Given the description of an element on the screen output the (x, y) to click on. 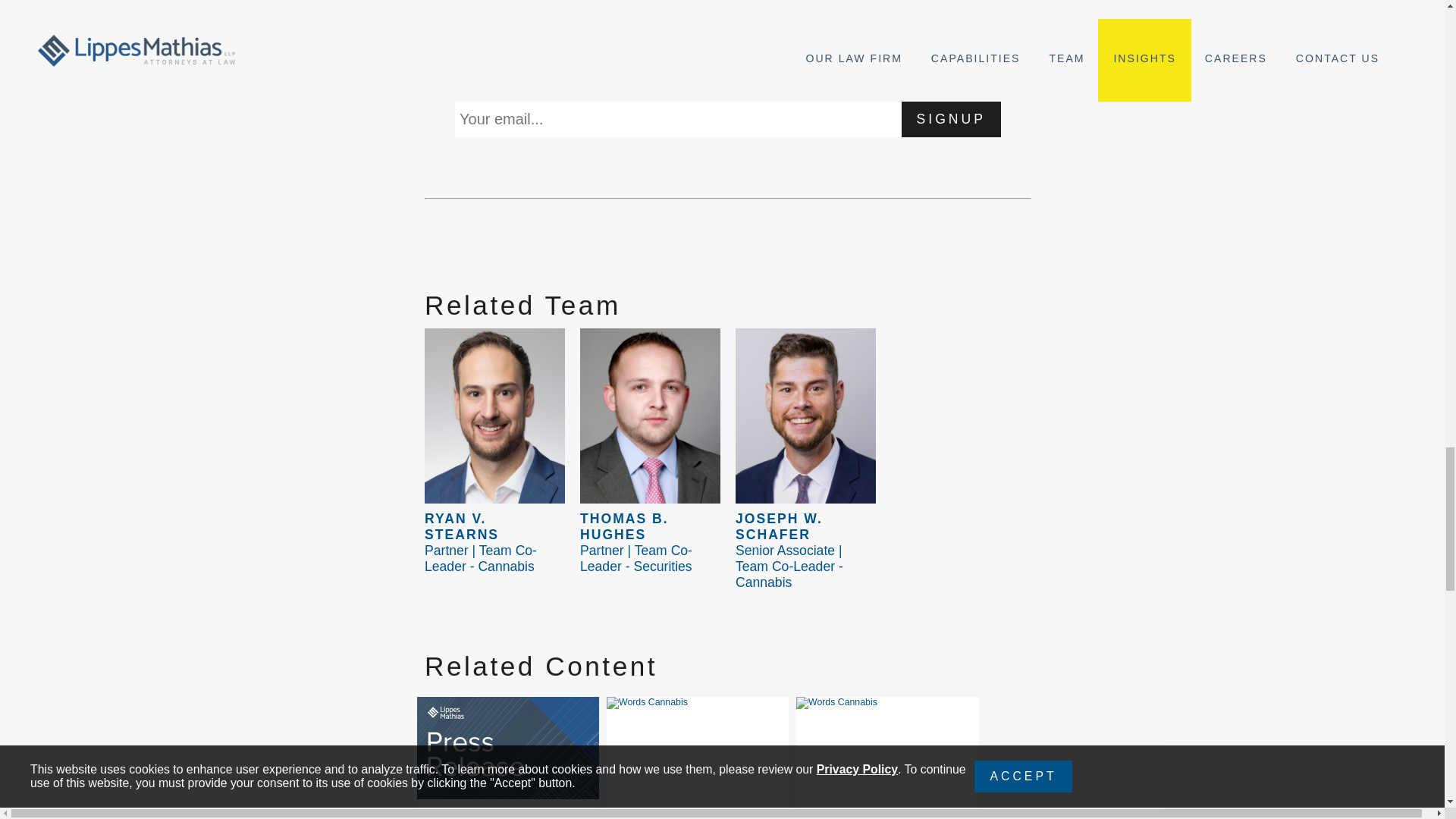
SIGNUP (951, 118)
